Given the description of an element on the screen output the (x, y) to click on. 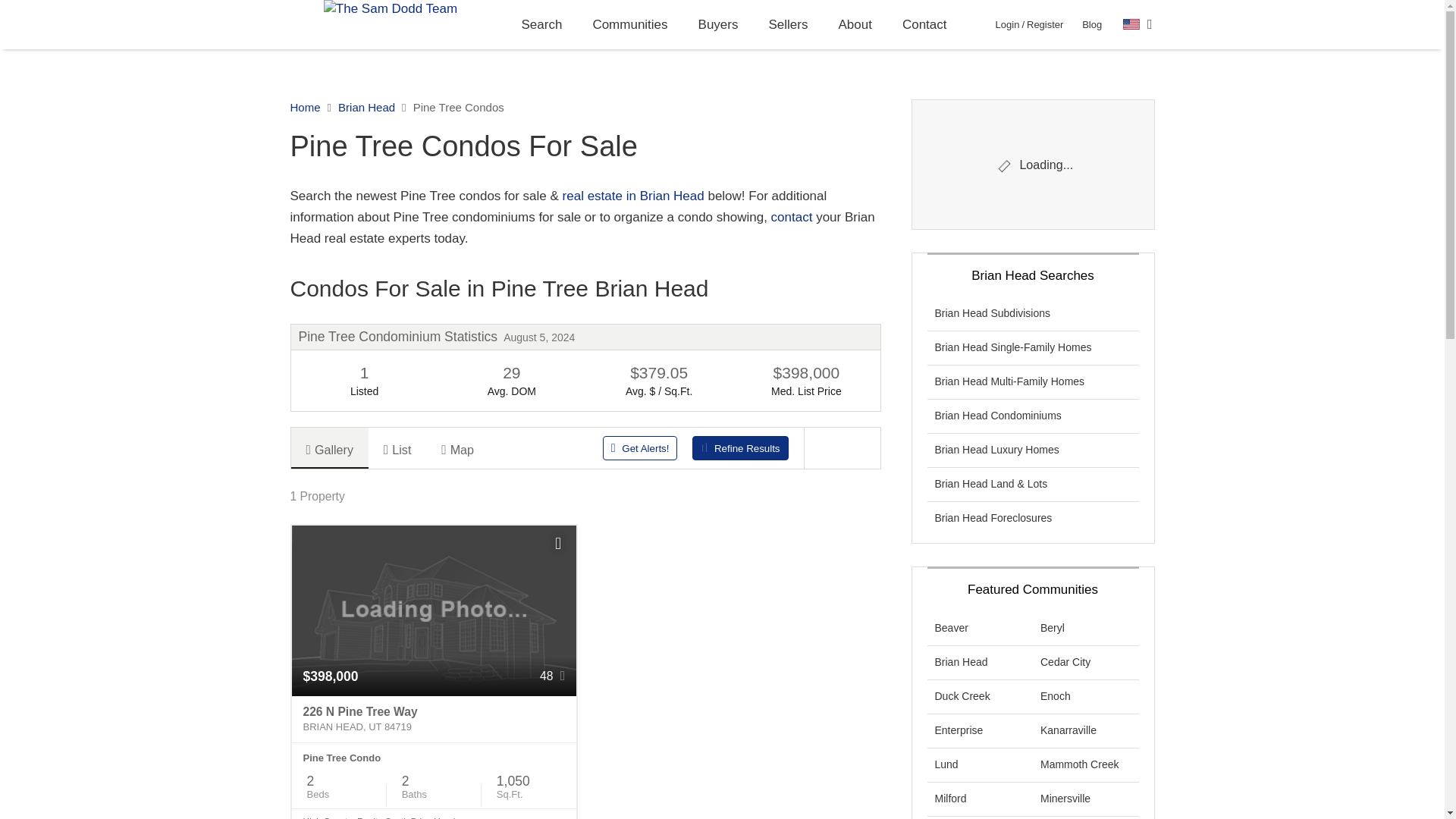
Select Language (1137, 24)
Contact (924, 24)
226 N Pine Tree Way Brian Head,  UT 84719 (433, 719)
Communities (629, 24)
Sellers (789, 24)
Search (542, 24)
Register (1044, 24)
Buyers (718, 24)
About (854, 24)
Blog (1091, 24)
